Given the description of an element on the screen output the (x, y) to click on. 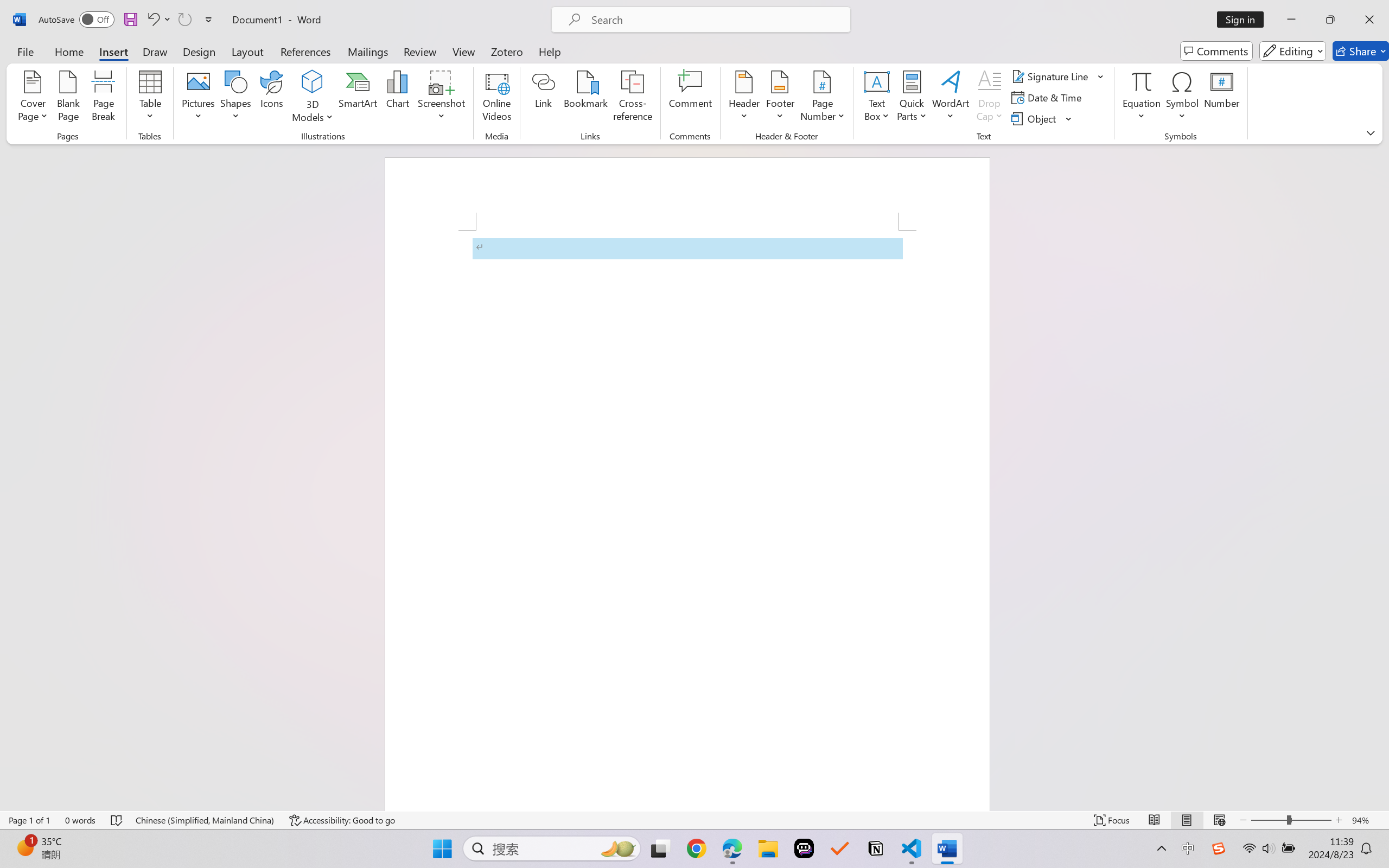
Signature Line (1058, 75)
Equation (1141, 97)
Language Chinese (Simplified, Mainland China) (205, 819)
Page Number (822, 97)
Object... (1042, 118)
Pictures (198, 97)
Shapes (235, 97)
